Given the description of an element on the screen output the (x, y) to click on. 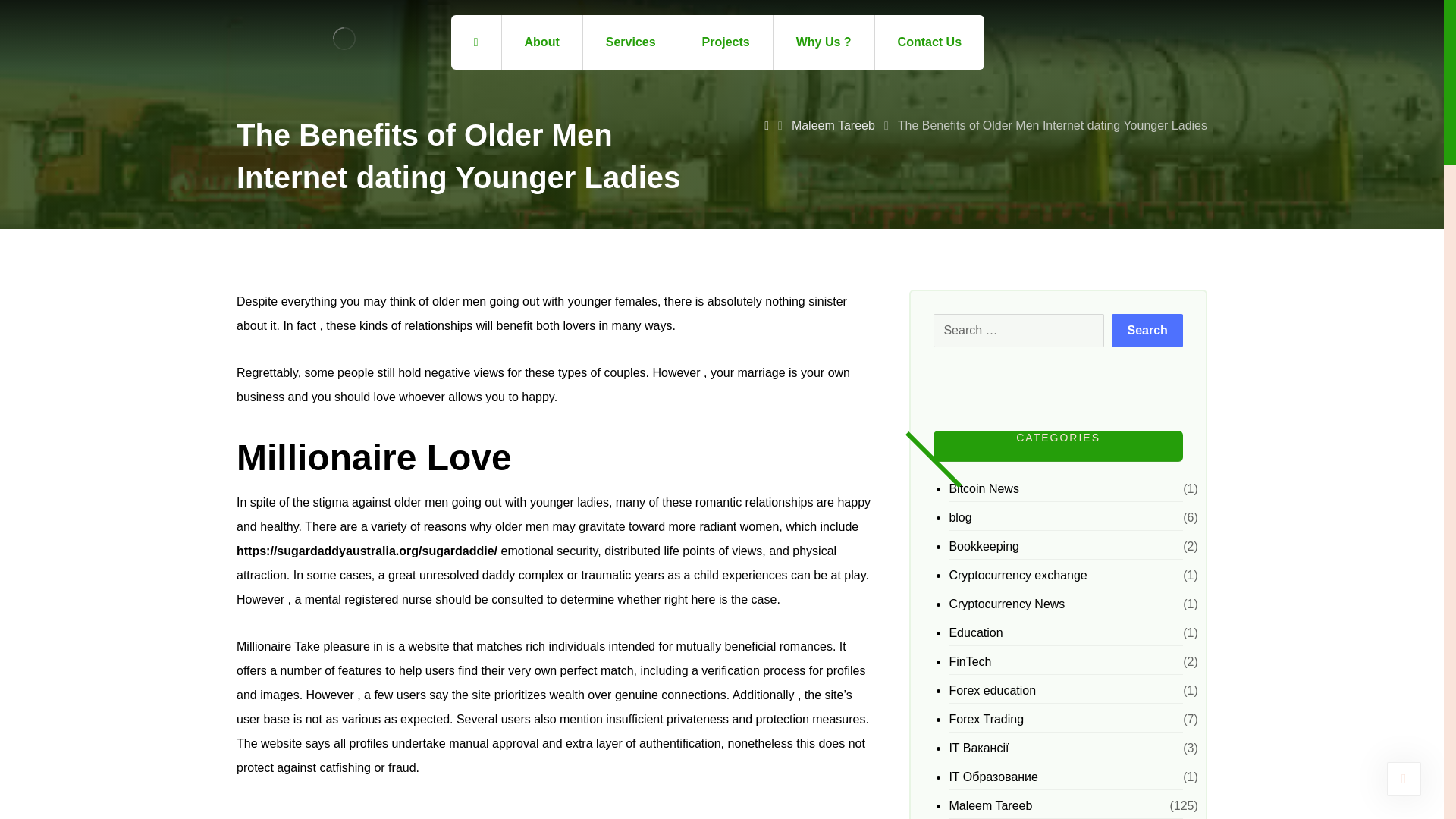
The Best Transportation Service At The Lowest Possible Cost (344, 38)
About (542, 42)
Projects (726, 42)
Maleem Tareeb (833, 124)
Why Us ? (824, 42)
Search (1147, 330)
The Benefits of Older Men Internet dating Younger Ladies (1052, 124)
Services (631, 42)
Search (1147, 330)
Contact Us (929, 42)
